Given the description of an element on the screen output the (x, y) to click on. 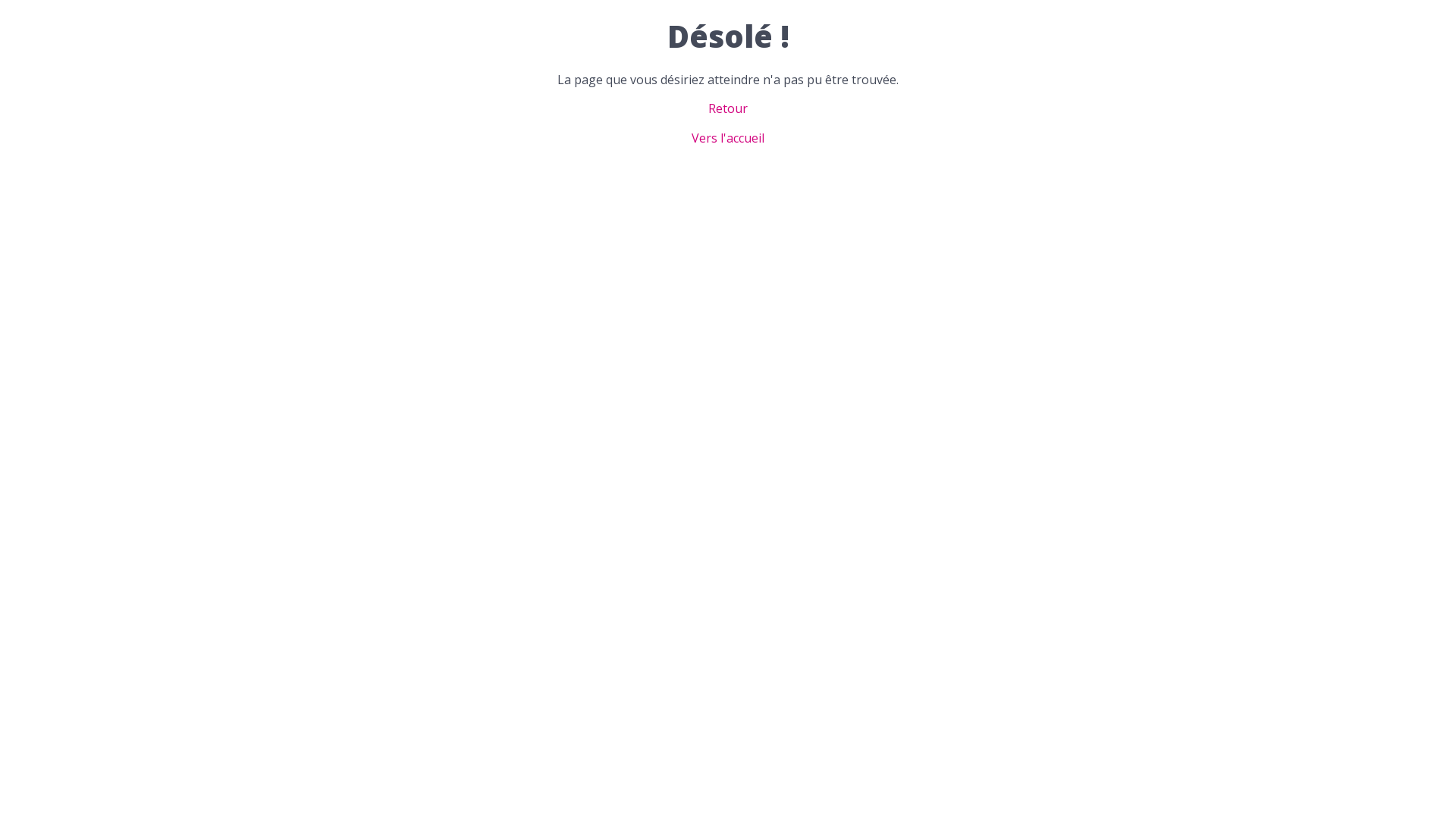
Retour Element type: text (727, 108)
Vers l'accueil Element type: text (727, 137)
